Given the description of an element on the screen output the (x, y) to click on. 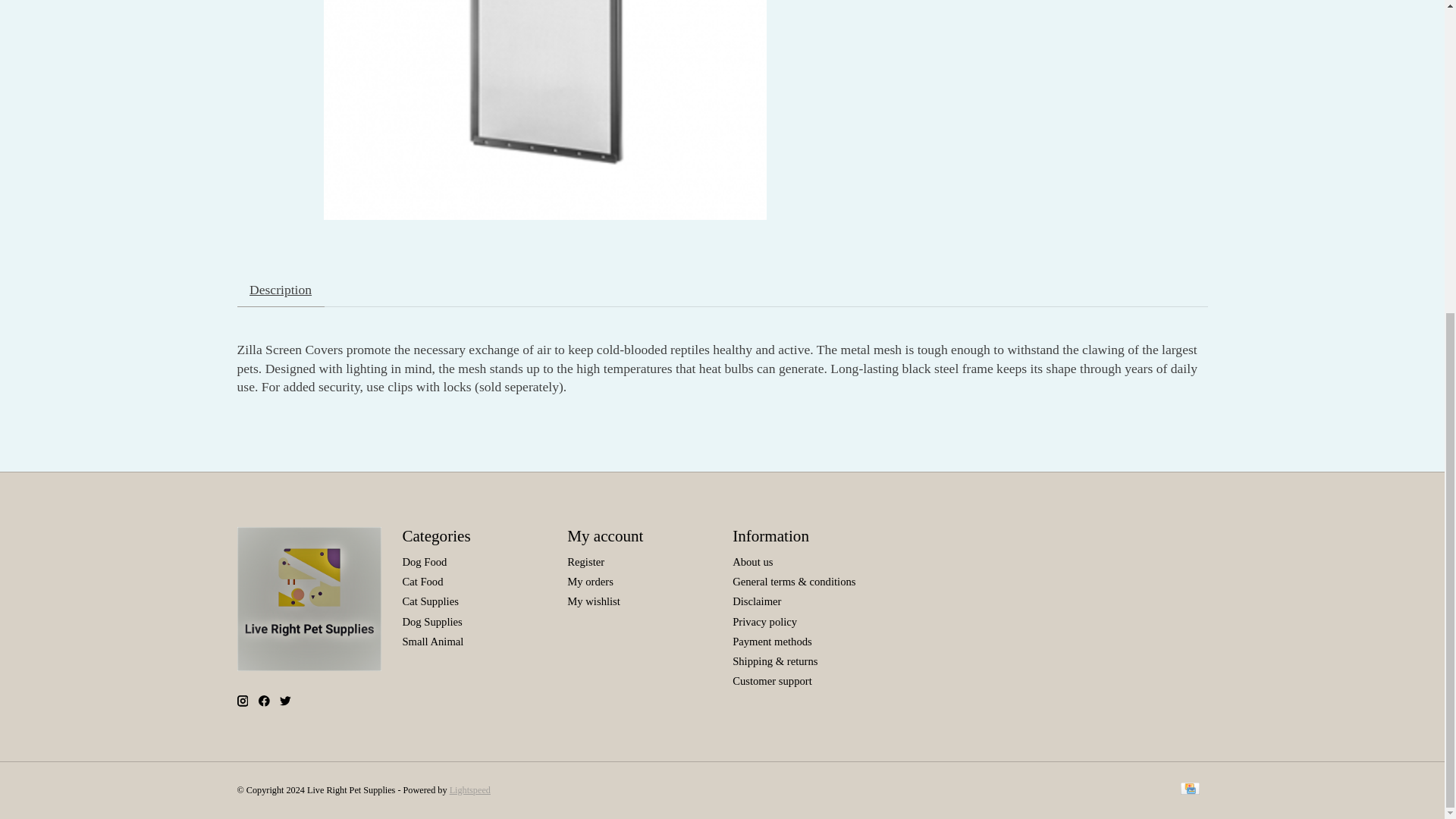
About us (752, 562)
Customer support (772, 680)
Lightspeed (469, 789)
My wishlist (593, 601)
Register (585, 562)
Payment methods (772, 641)
Credit Card (1188, 789)
Disclaimer (756, 601)
My orders (589, 581)
Privacy policy (764, 621)
